Given the description of an element on the screen output the (x, y) to click on. 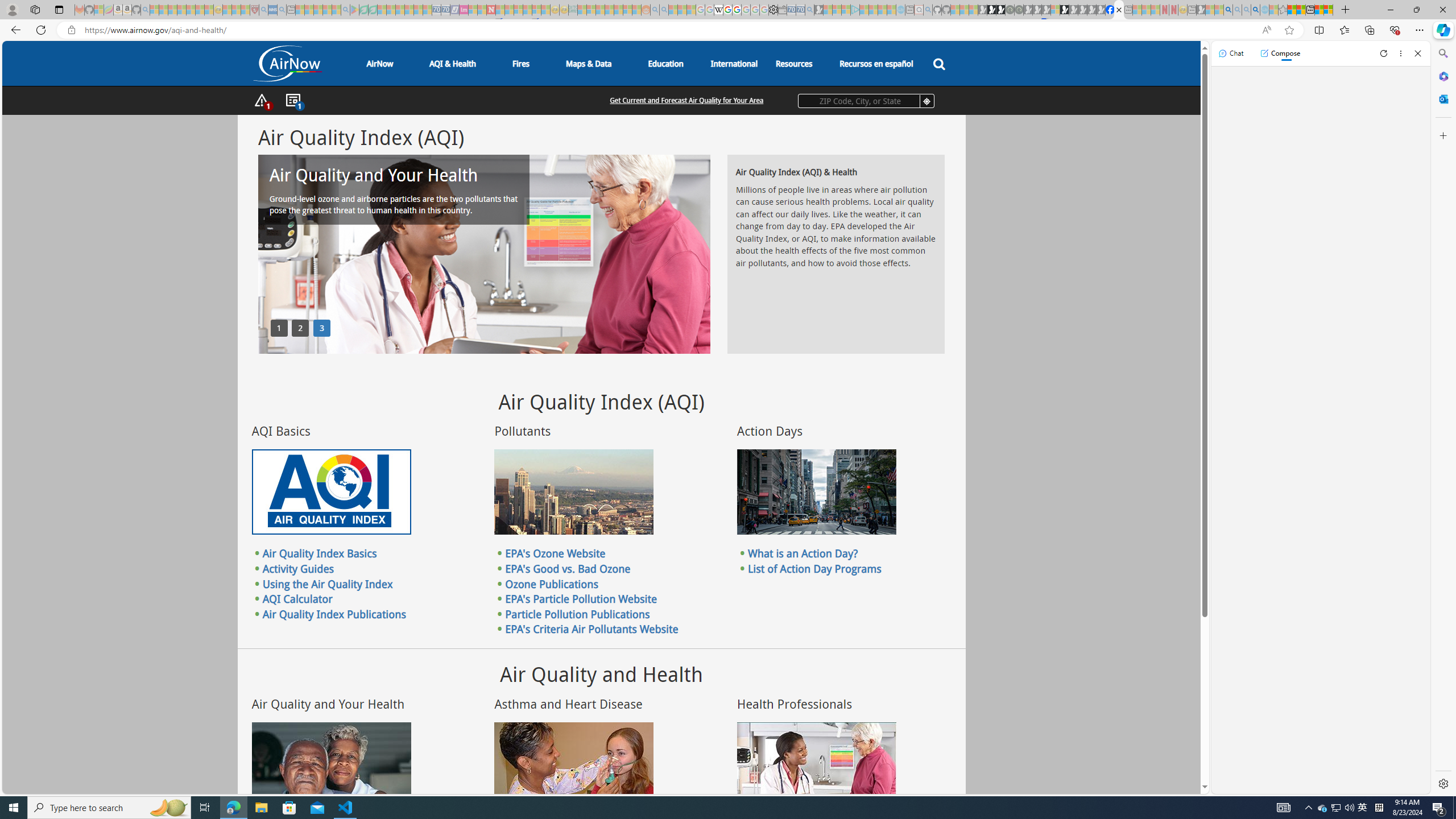
Pollutants (573, 491)
Target page - Wikipedia (718, 9)
Particle Pollution Publications (577, 613)
